Given the description of an element on the screen output the (x, y) to click on. 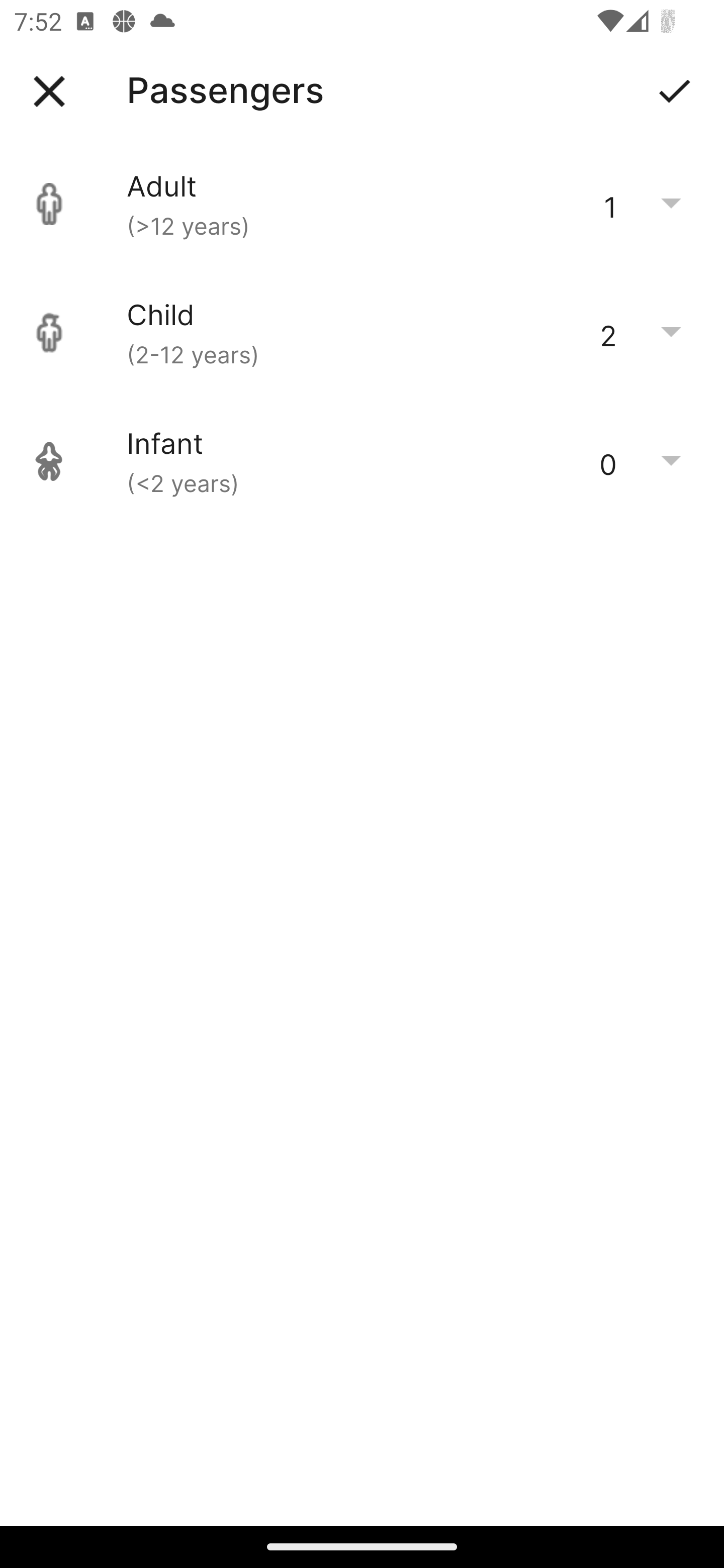
Adult (>12 years) 1 (362, 204)
Child (2-12 years) 2 (362, 332)
Infant (<2 years) 0 (362, 461)
